Given the description of an element on the screen output the (x, y) to click on. 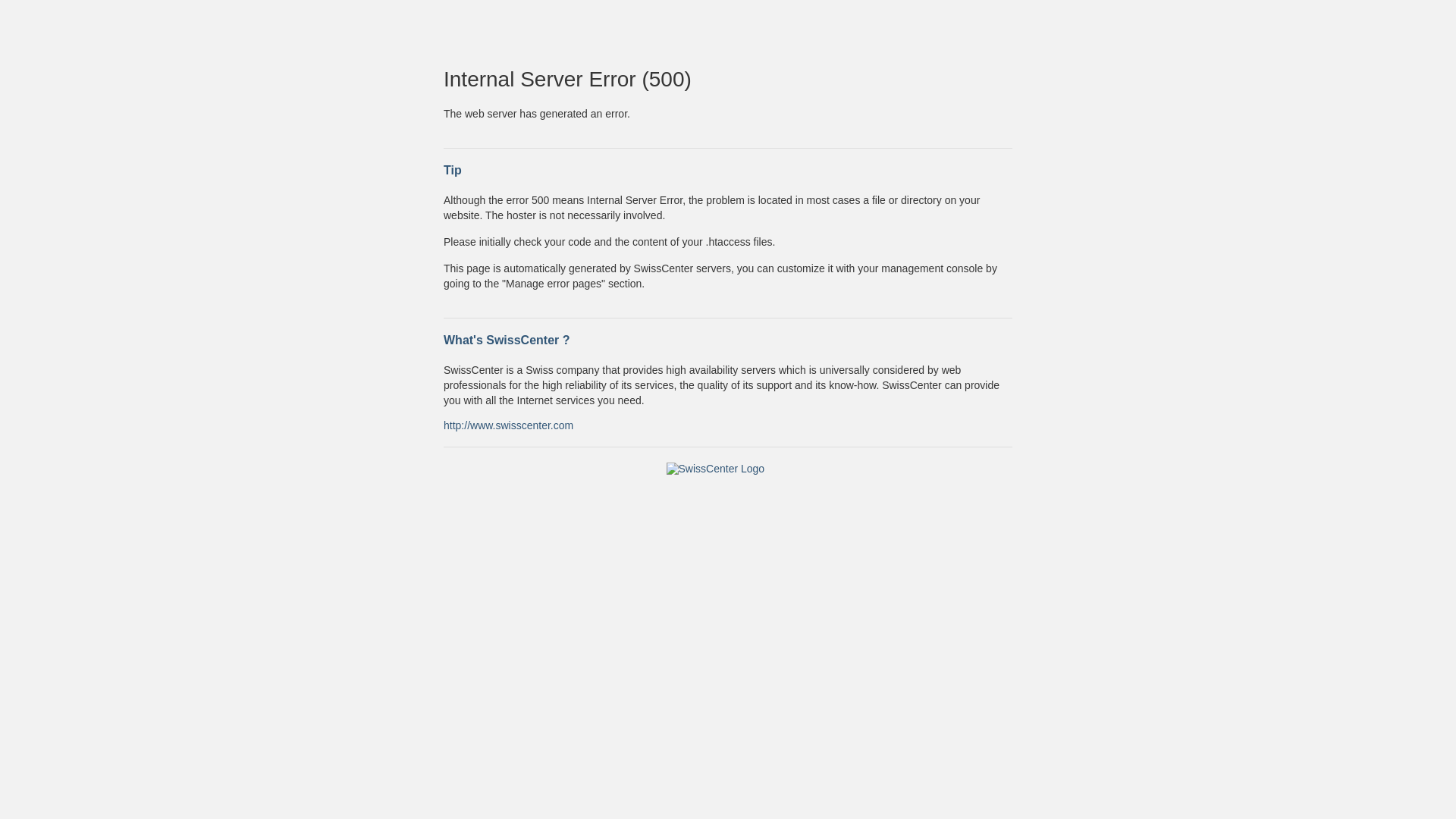
http://www.swisscenter.com Element type: text (508, 424)
